Given the description of an element on the screen output the (x, y) to click on. 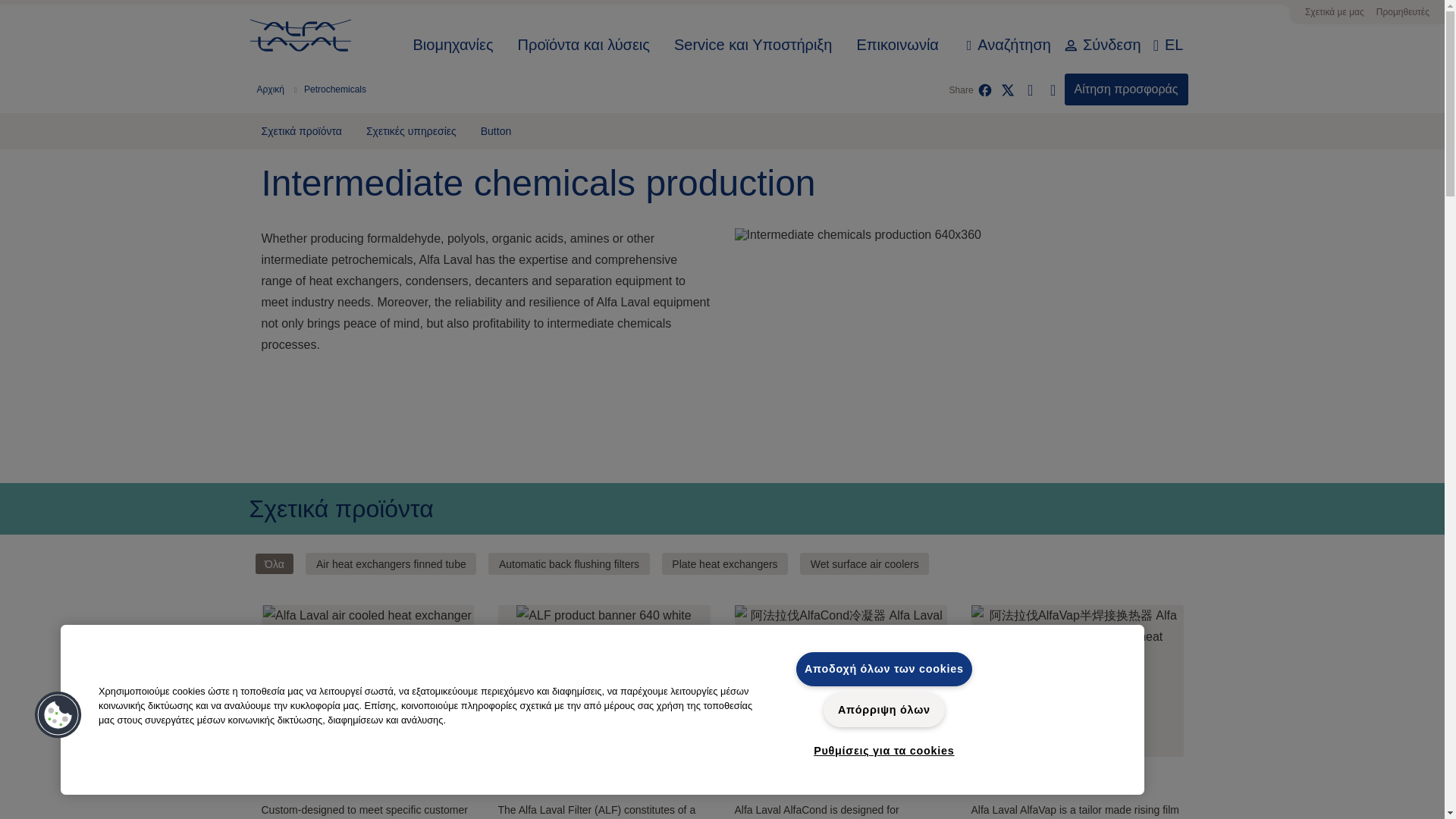
EL (1174, 45)
Cookies Button (57, 715)
